Given the description of an element on the screen output the (x, y) to click on. 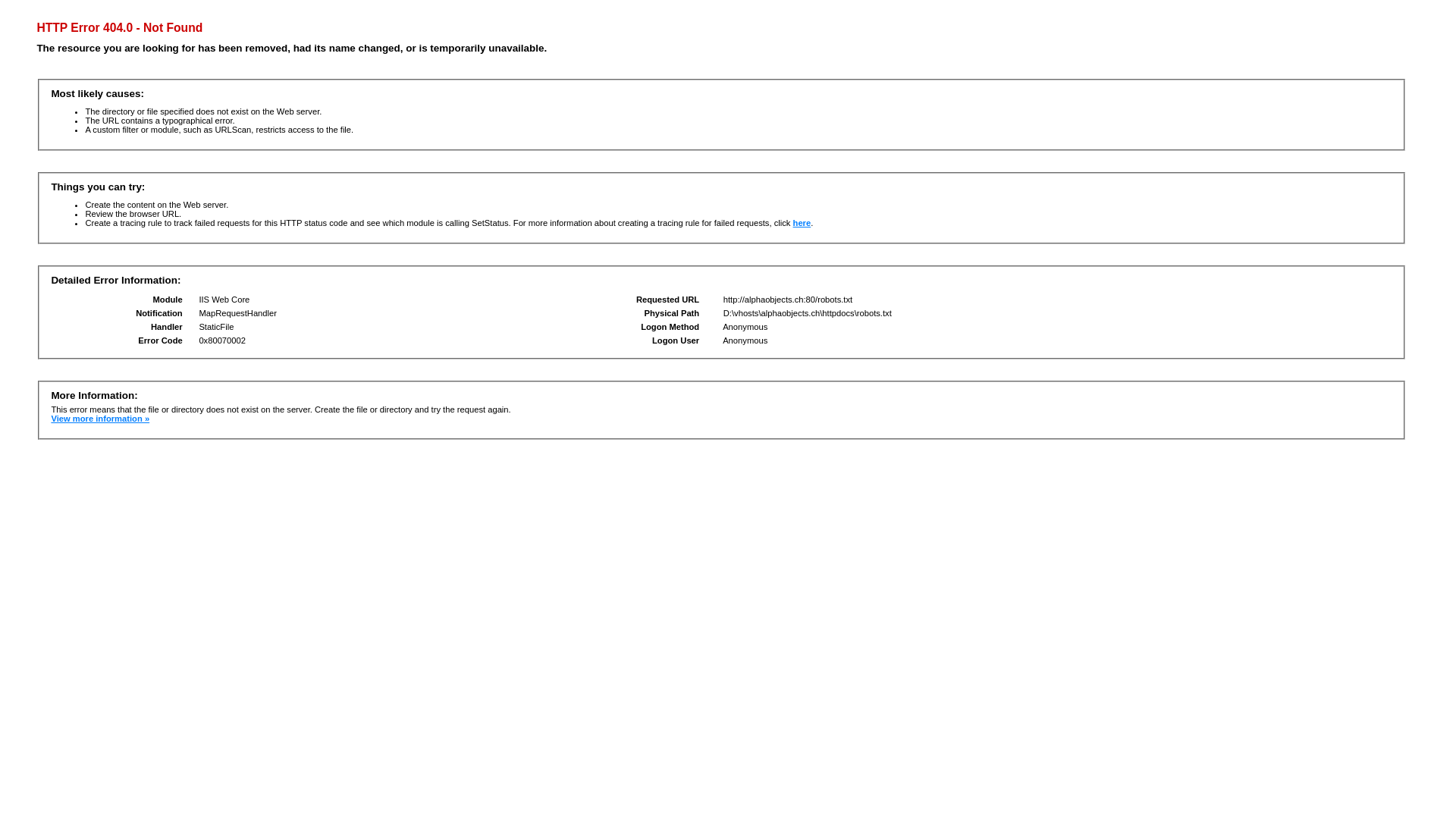
here Element type: text (802, 222)
